Given the description of an element on the screen output the (x, y) to click on. 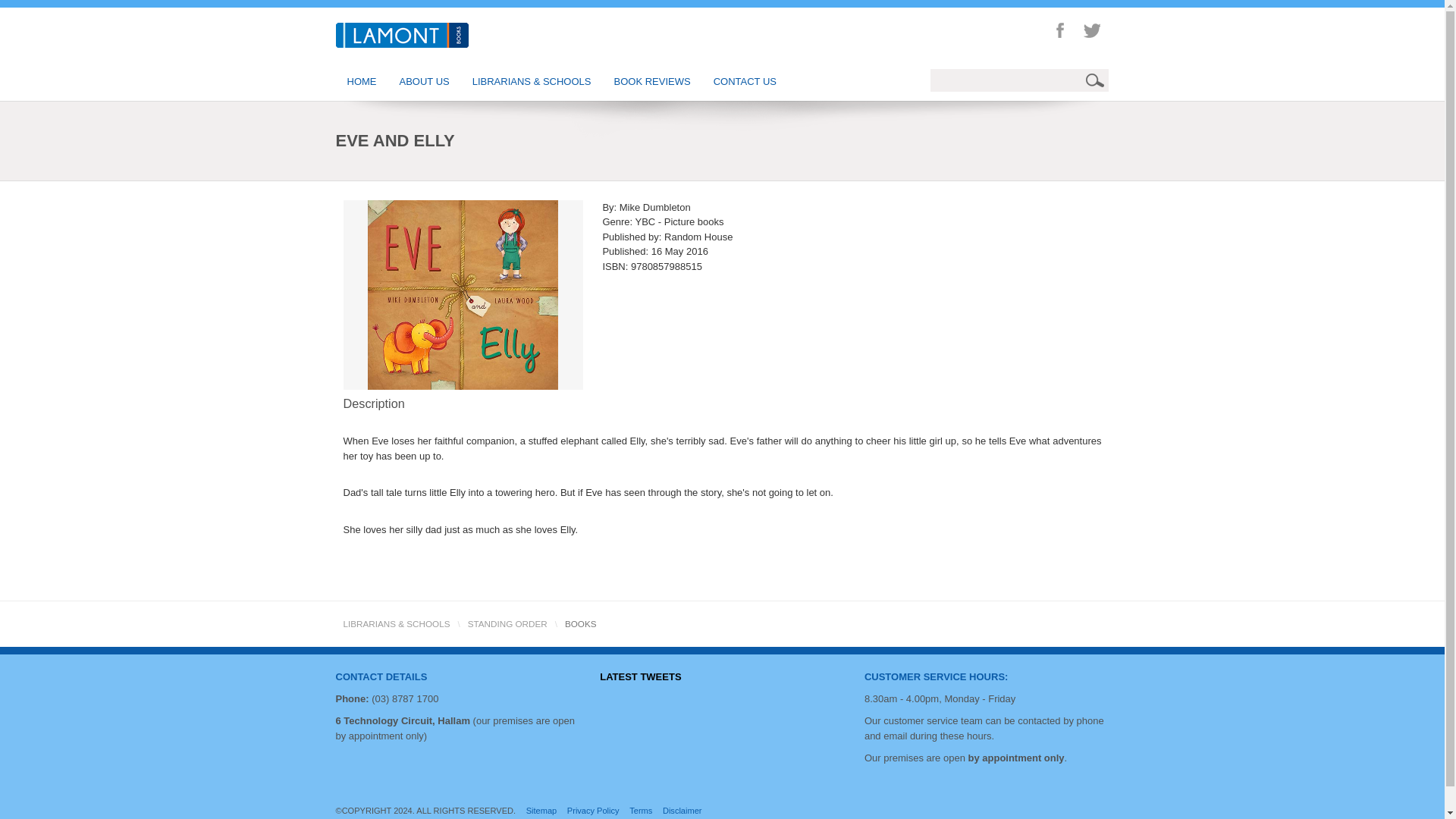
Contact Us (936, 675)
HOME (360, 81)
Search (1097, 79)
ABOUT US (424, 81)
